Given the description of an element on the screen output the (x, y) to click on. 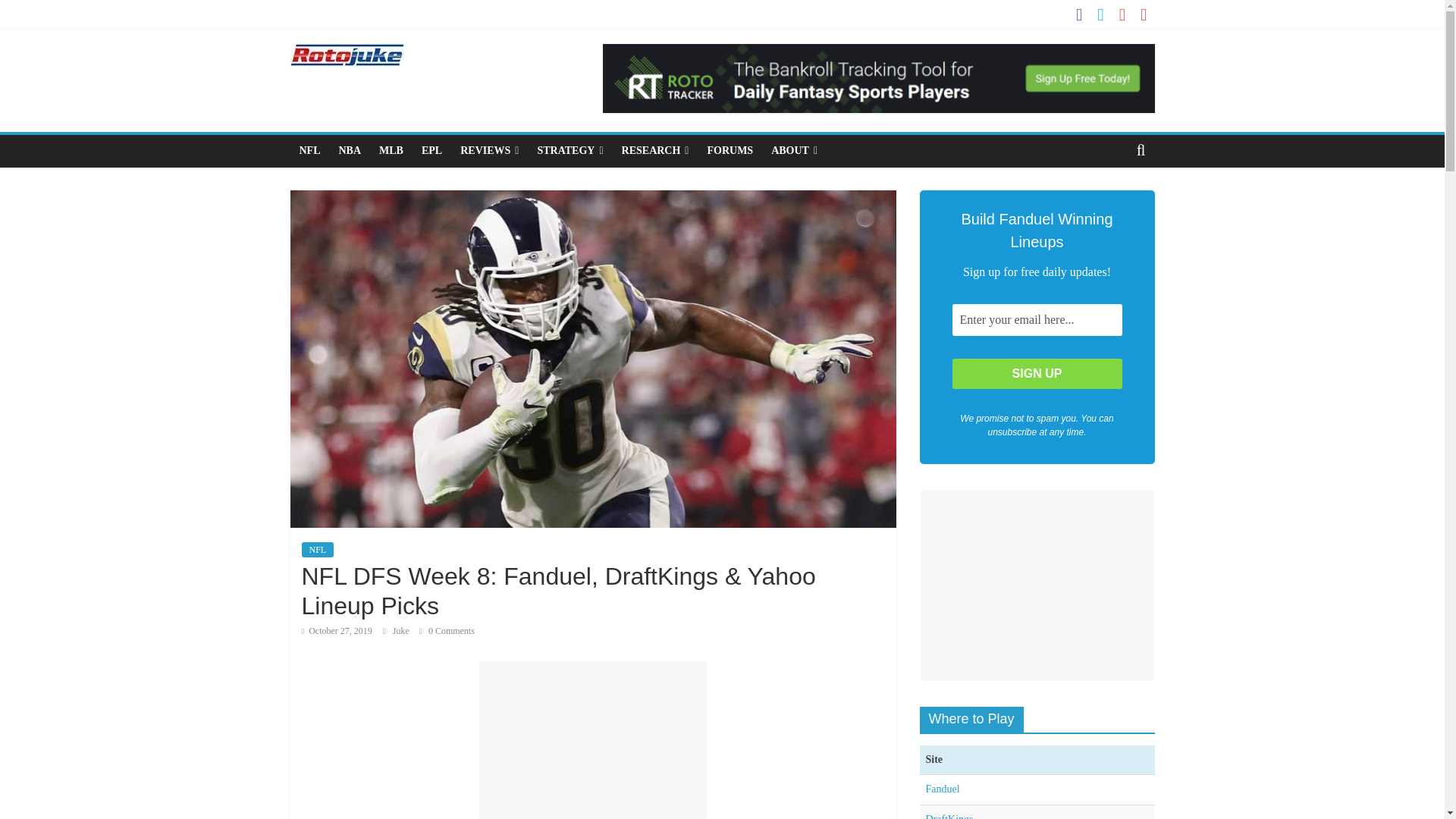
0 Comments (446, 630)
STRATEGY (569, 151)
MLB (390, 151)
ABOUT (794, 151)
Juke (402, 630)
FORUMS (729, 151)
Sign Up (1037, 373)
NBA (349, 151)
REVIEWS (489, 151)
Juke (402, 630)
